Given the description of an element on the screen output the (x, y) to click on. 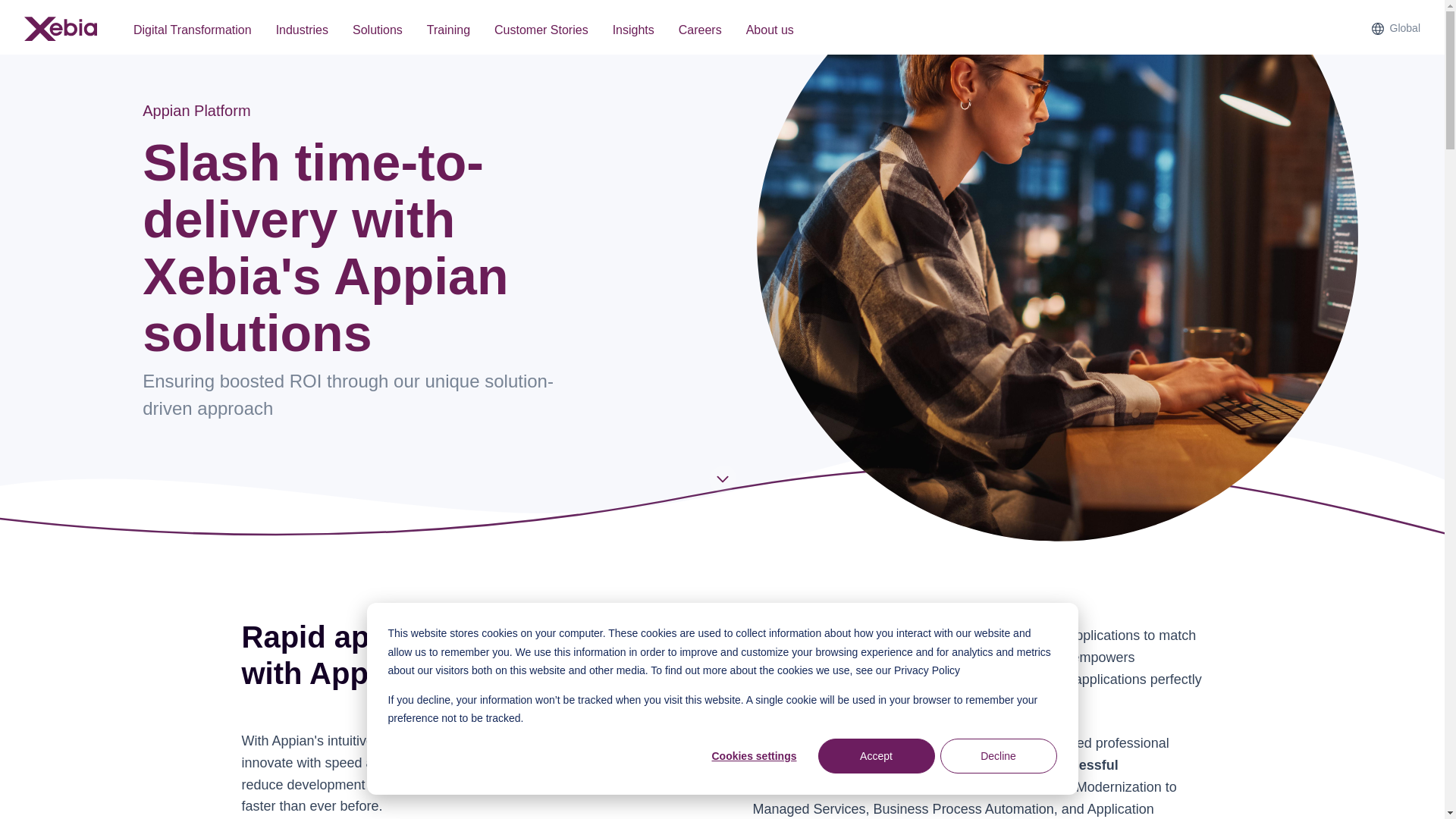
Training (447, 30)
Insights (632, 30)
Careers (699, 30)
Solutions (377, 30)
Industries (301, 30)
Customer Stories (540, 30)
About us (769, 30)
Digital Transformation (191, 30)
